Given the description of an element on the screen output the (x, y) to click on. 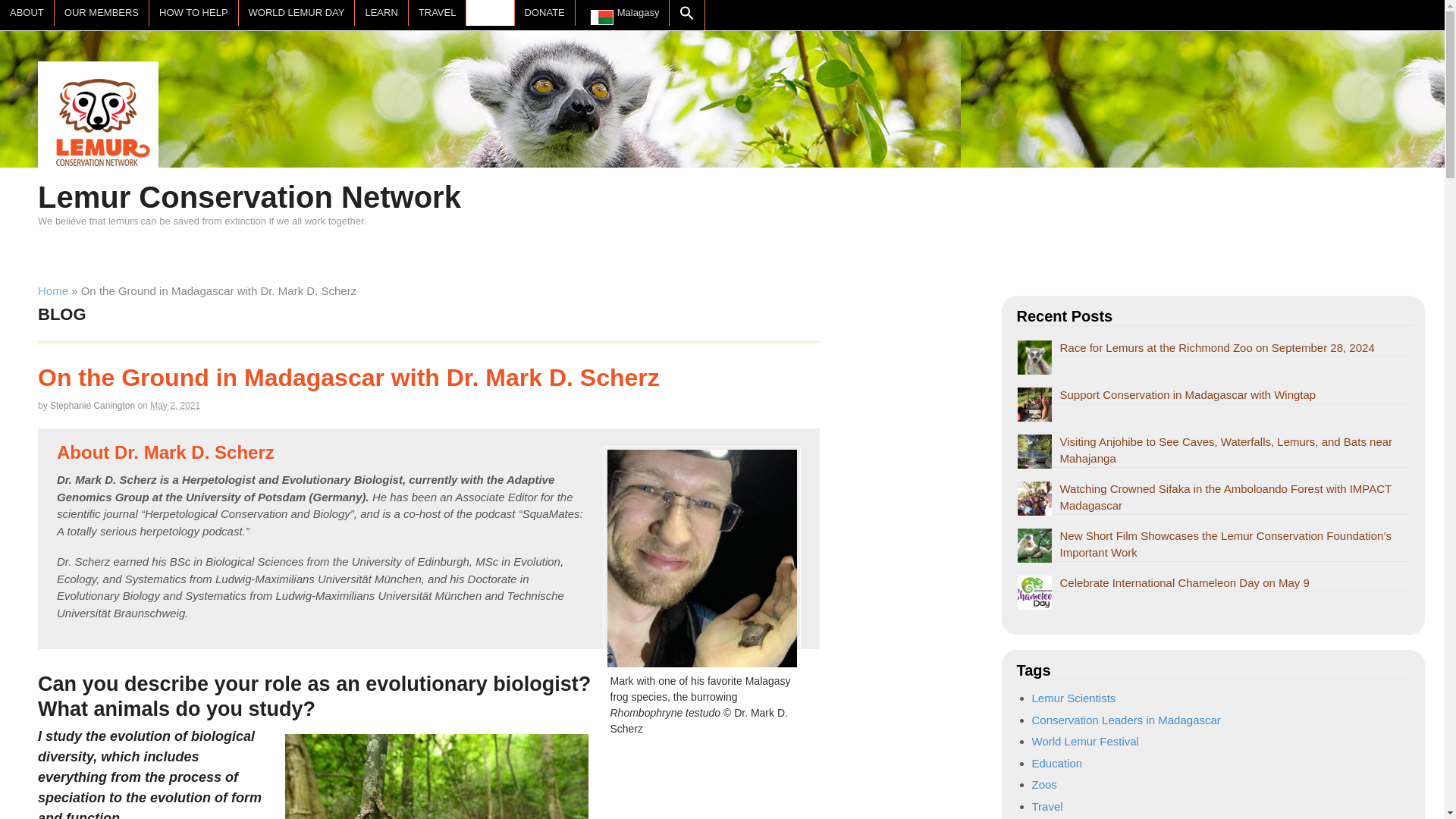
OUR MEMBERS (101, 12)
WORLD LEMUR DAY (296, 12)
2021-05-02T14:06:45-0400 (174, 405)
TRAVEL (437, 12)
LEARN (381, 12)
Posts by Stephanie Canington (92, 405)
BLOG (489, 12)
ABOUT (26, 12)
HOW TO HELP (193, 12)
